Given the description of an element on the screen output the (x, y) to click on. 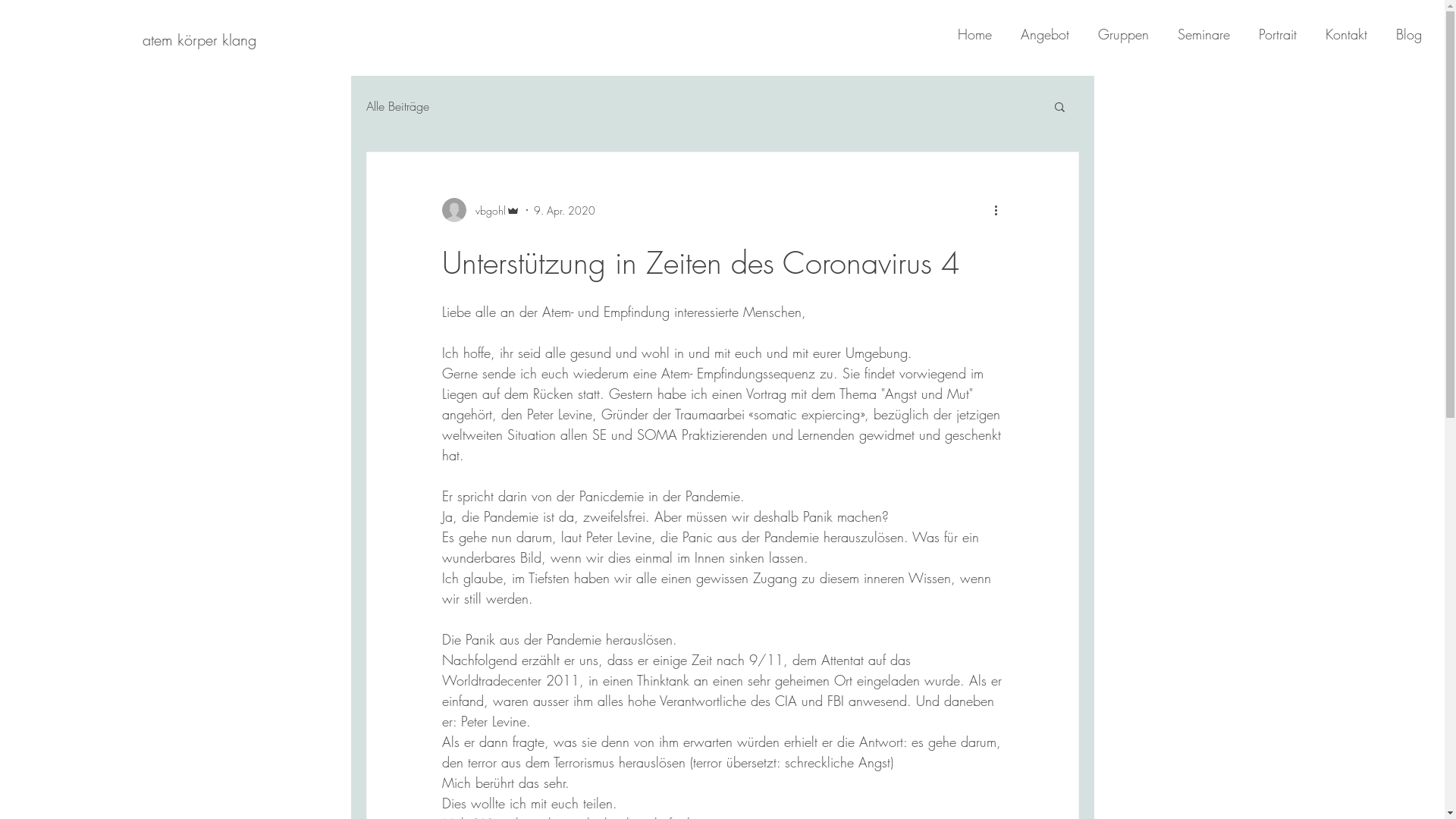
Angebot Element type: text (1037, 34)
Seminare Element type: text (1196, 34)
Gruppen Element type: text (1116, 34)
Blog Element type: text (1401, 34)
Portrait Element type: text (1270, 34)
Kontakt Element type: text (1339, 34)
Home Element type: text (967, 34)
